Given the description of an element on the screen output the (x, y) to click on. 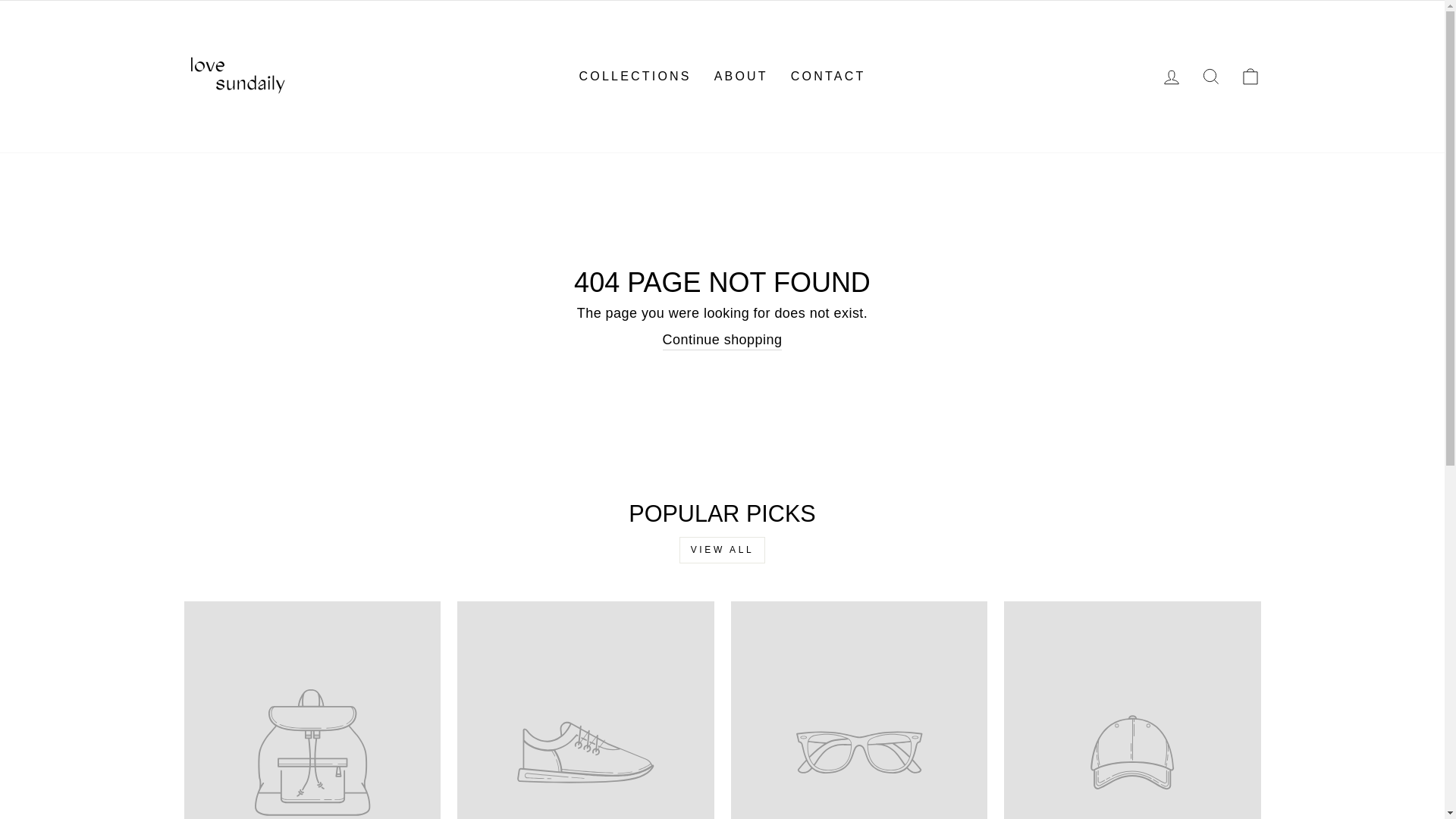
COLLECTIONS (635, 76)
SEARCH (1210, 76)
LOG IN (1171, 76)
ABOUT (740, 76)
CONTACT (827, 76)
Continue shopping (722, 340)
CART (1249, 76)
VIEW ALL (722, 550)
